Given the description of an element on the screen output the (x, y) to click on. 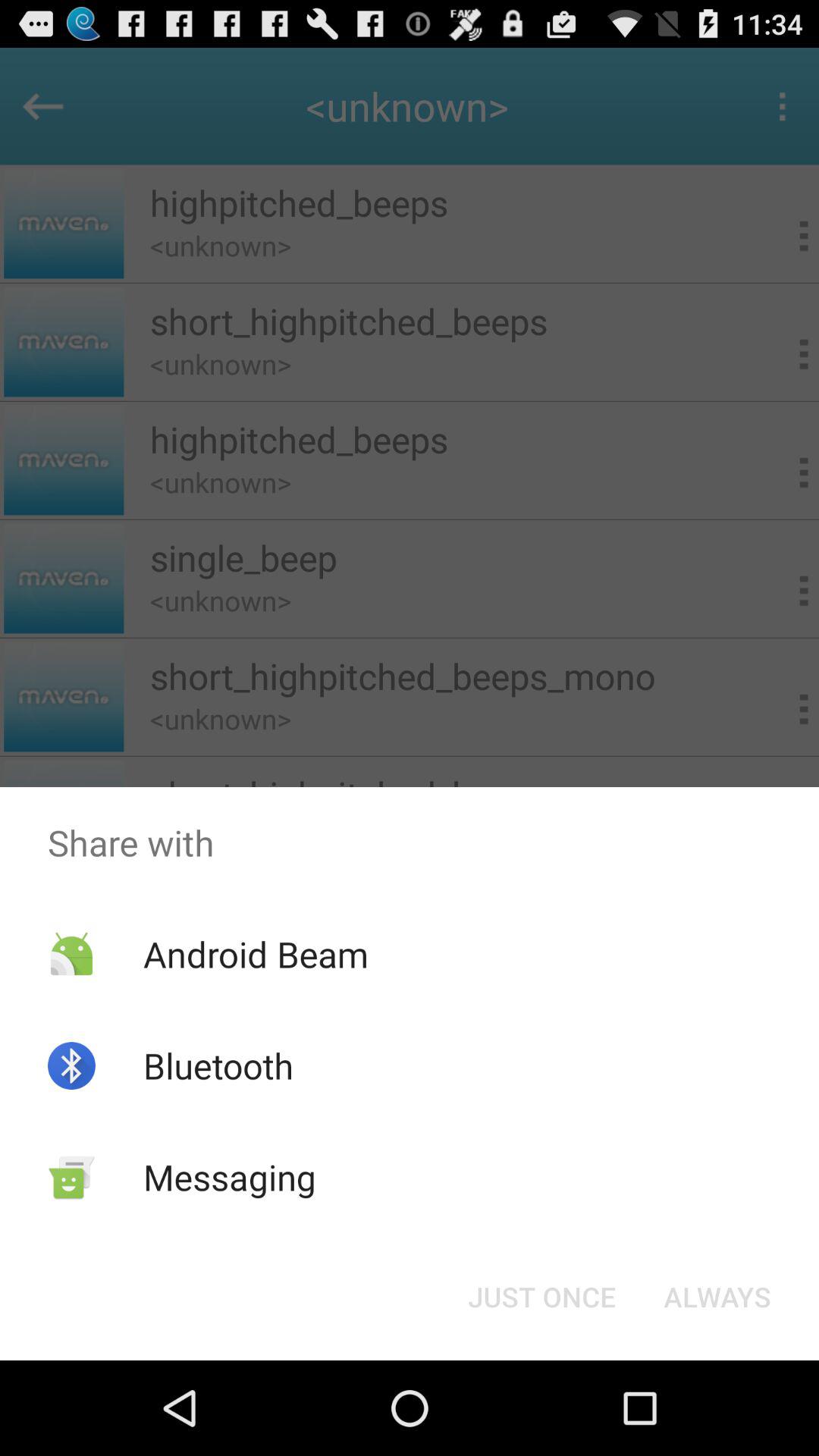
open the app above messaging app (218, 1065)
